Given the description of an element on the screen output the (x, y) to click on. 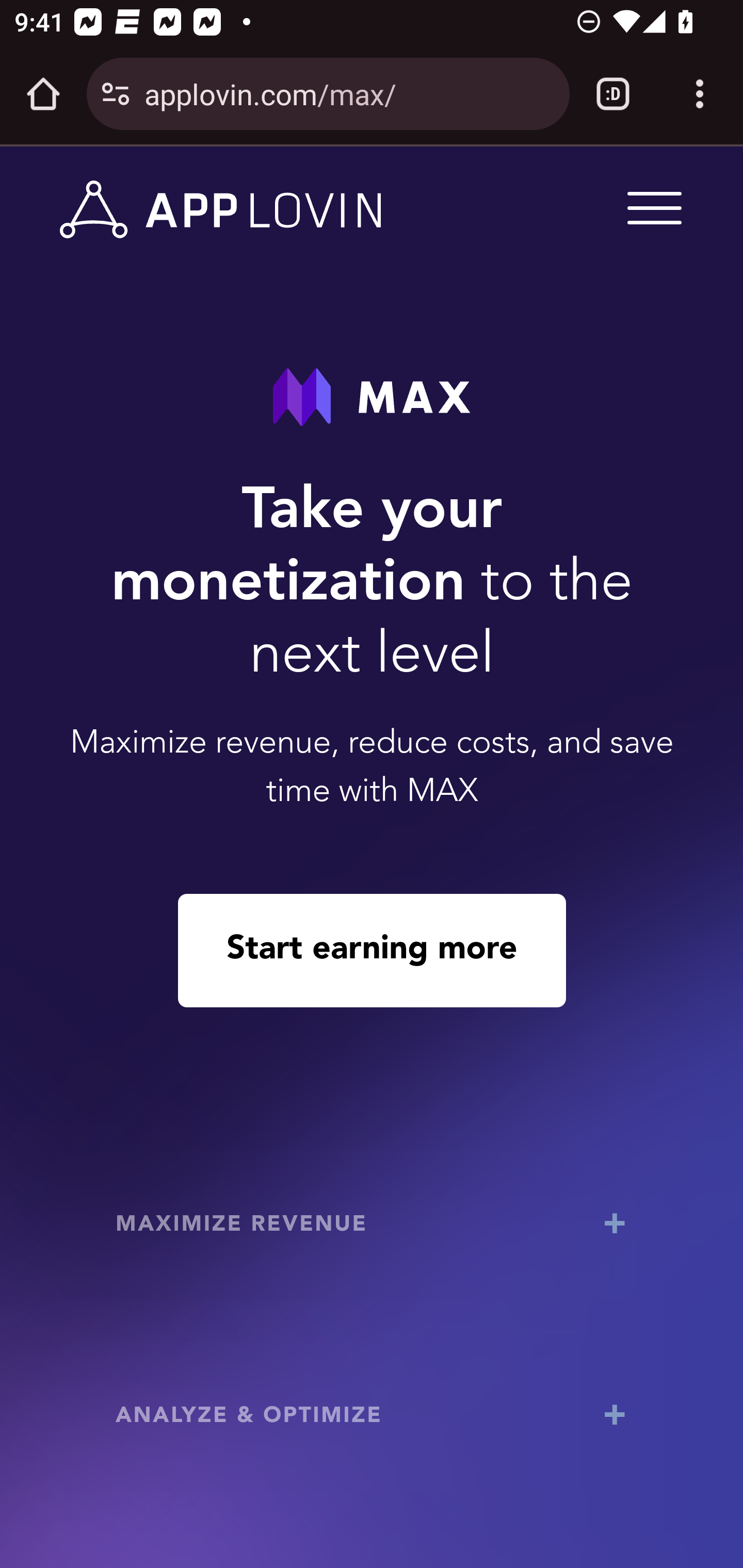
Open the home page (43, 93)
Connection is secure (115, 93)
Switch or close tabs (612, 93)
Customize and control Google Chrome (699, 93)
applovin.com/max/ (349, 92)
Menu Trigger (650, 207)
www.applovin (220, 209)
Start earning more (371, 950)
